Given the description of an element on the screen output the (x, y) to click on. 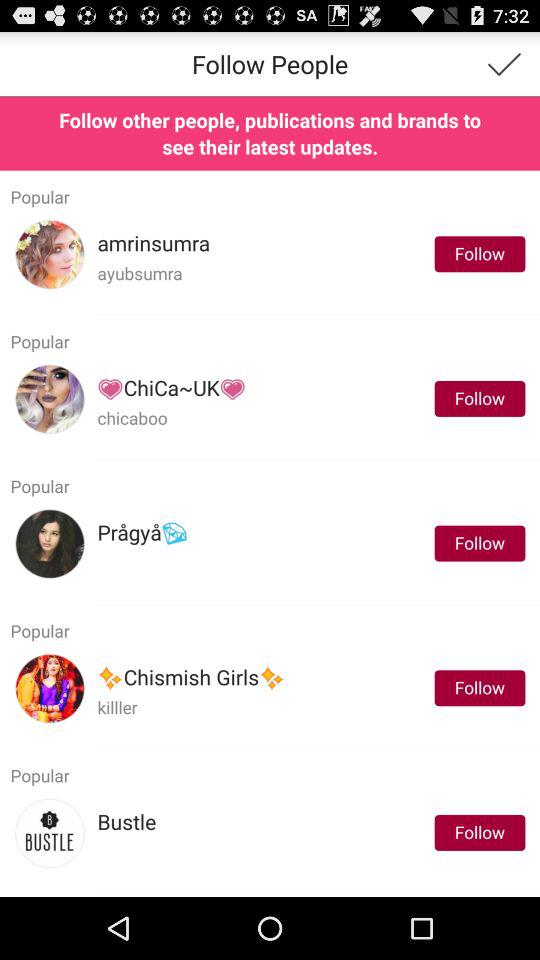
click icon below amrinsumra (139, 272)
